Given the description of an element on the screen output the (x, y) to click on. 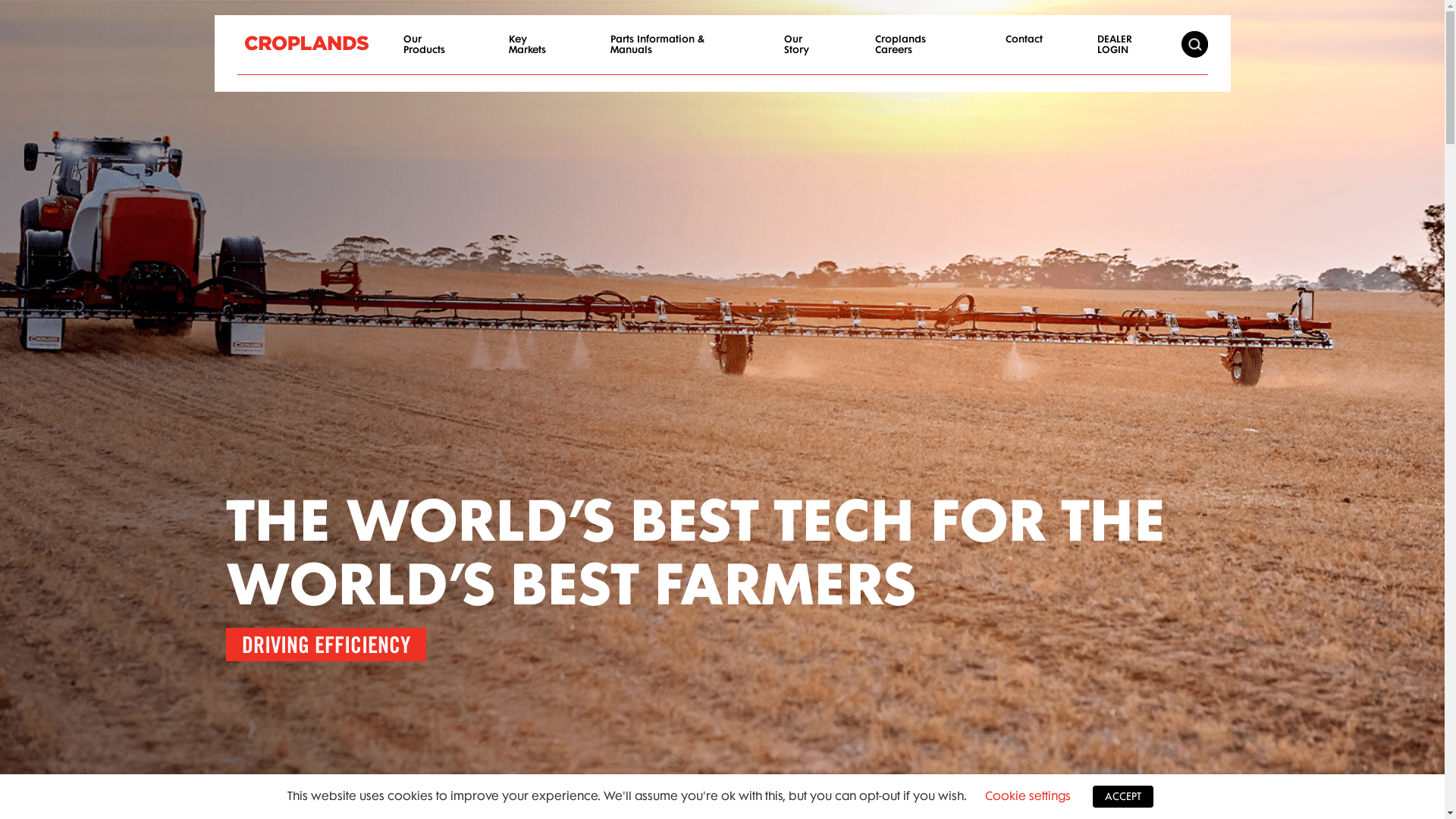
Our Story Element type: text (801, 52)
Our Products Element type: text (428, 52)
ACCEPT Element type: text (1122, 796)
Contact Element type: text (1023, 46)
DEALER LOGIN Element type: text (1125, 52)
Croplands Careers Element type: text (912, 52)
Key Markets Element type: text (531, 52)
GO Element type: text (1194, 44)
Cookie settings Element type: text (1027, 795)
Parts Information & Manuals Element type: text (669, 52)
